Given the description of an element on the screen output the (x, y) to click on. 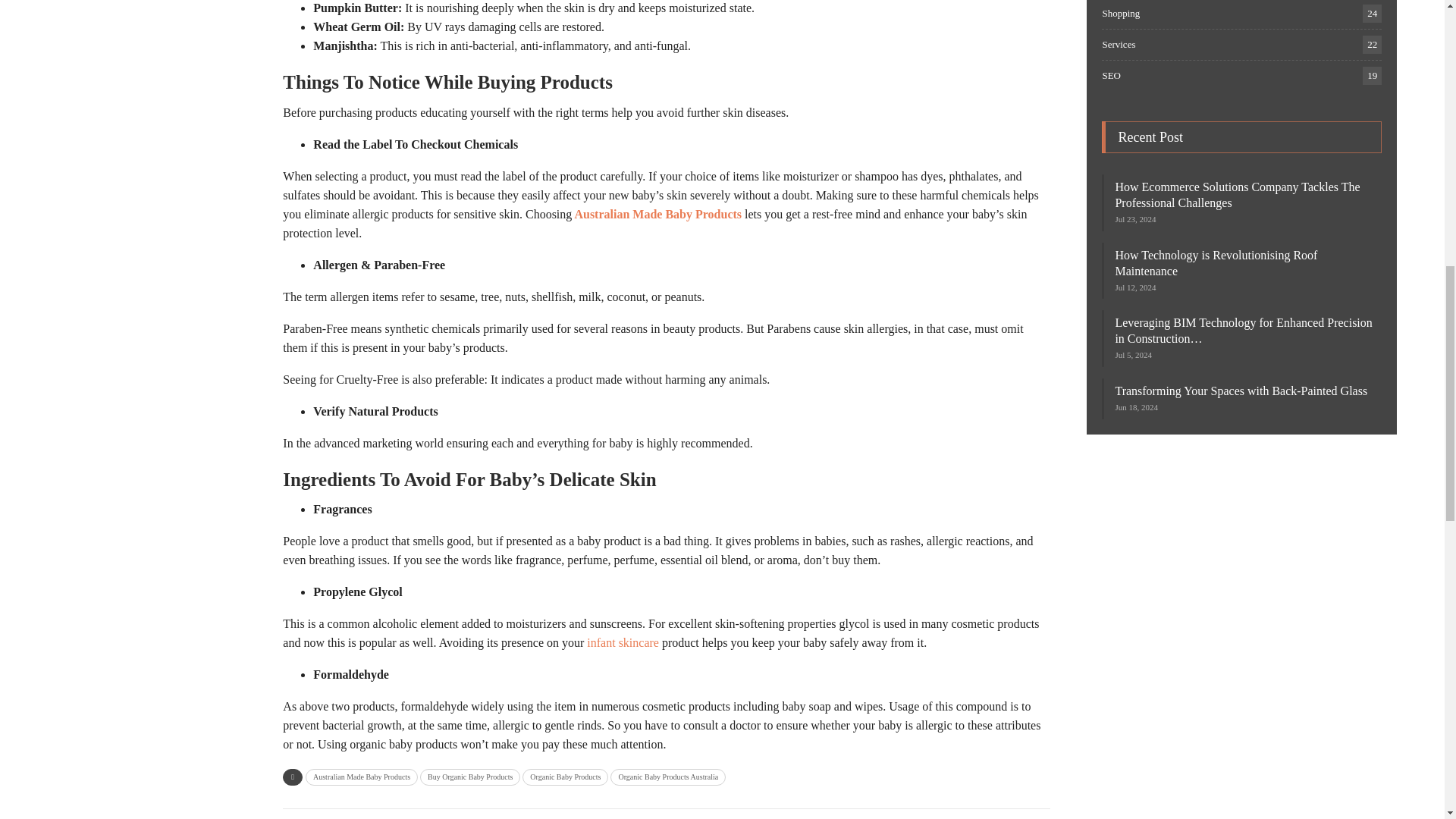
Australian Made Baby Products (361, 777)
Australian Made Baby Products (657, 214)
Organic Baby Products Australia (667, 777)
infant skincare (622, 642)
Buy Organic Baby Products (469, 777)
Organic Baby Products (565, 777)
